Given the description of an element on the screen output the (x, y) to click on. 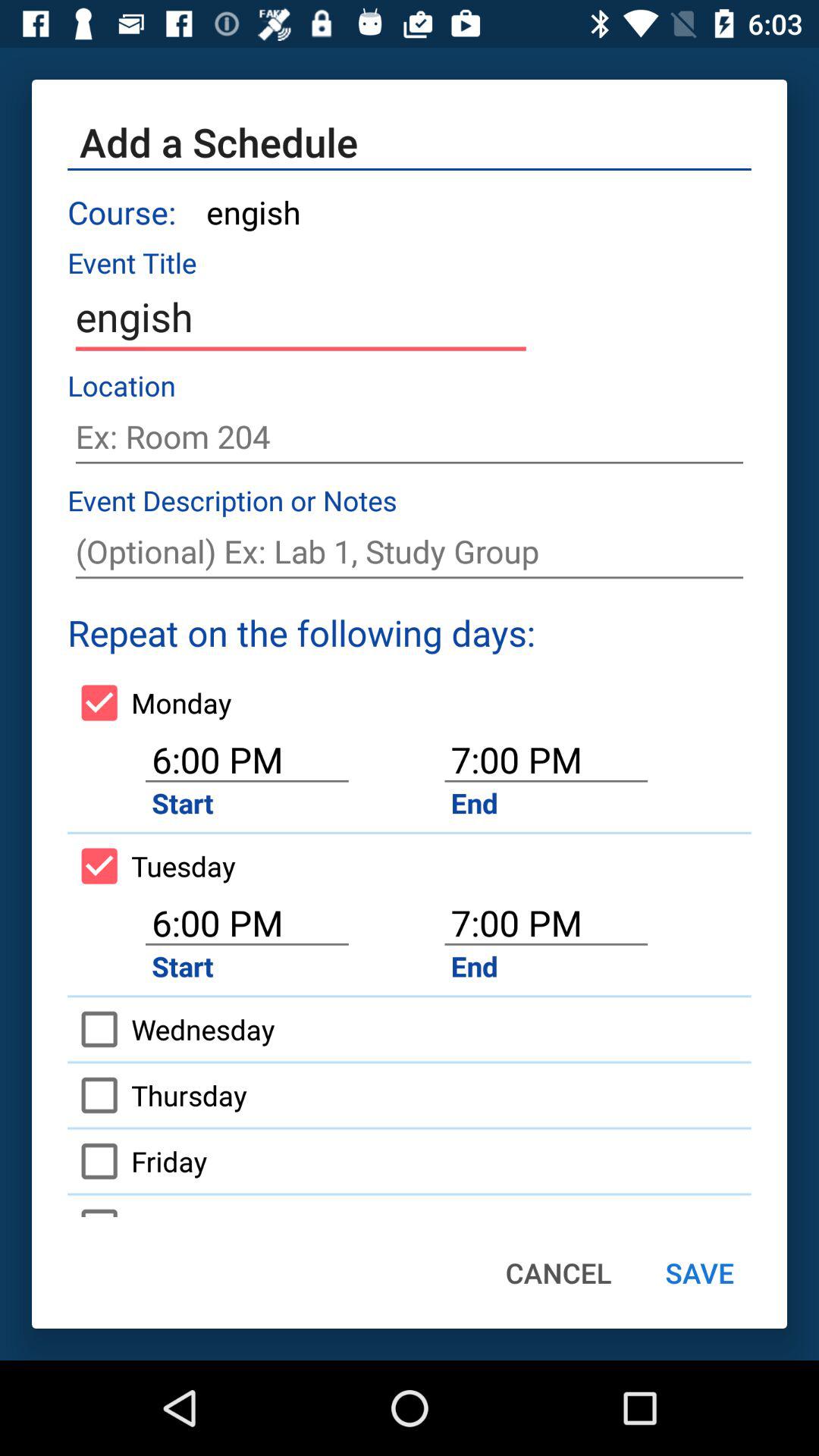
turn off thursday item (156, 1095)
